Given the description of an element on the screen output the (x, y) to click on. 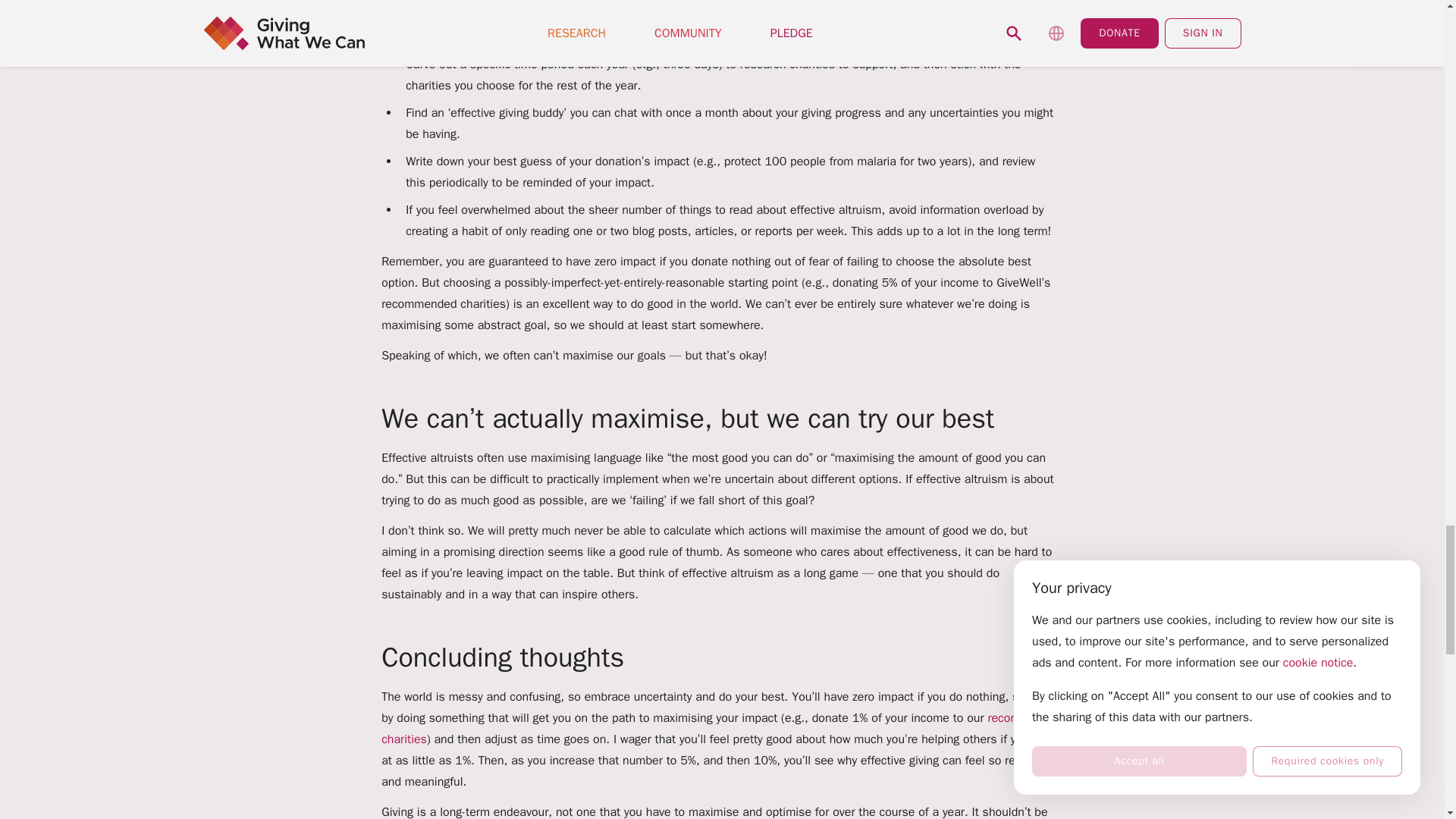
recommended charities (721, 728)
highly effective charity (647, 37)
